Given the description of an element on the screen output the (x, y) to click on. 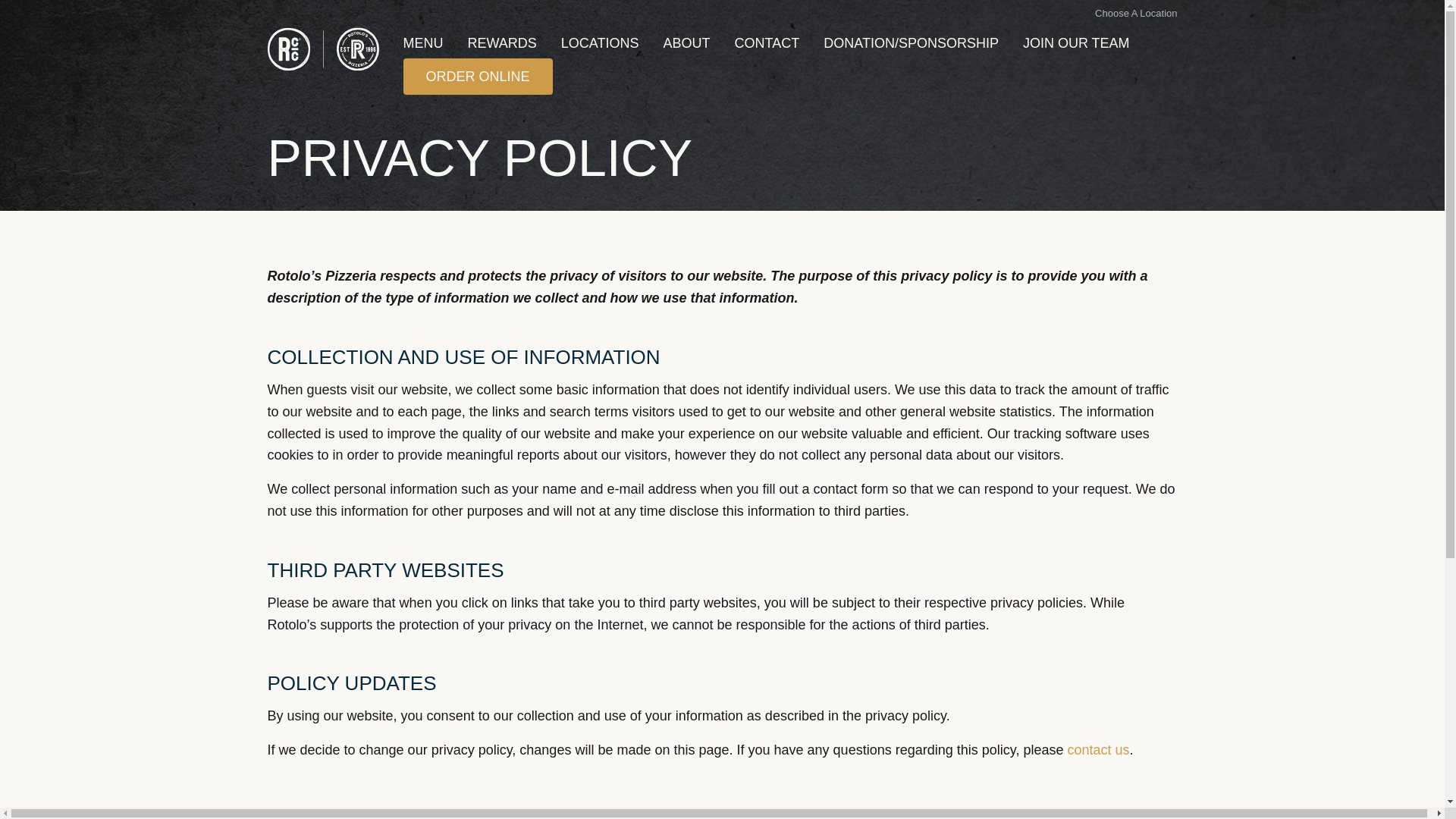
ORDER ONLINE (478, 76)
LOCATIONS (599, 42)
contact us (1098, 749)
CONTACT (767, 42)
ABOUT (686, 42)
REWARDS (501, 42)
JOIN OUR TEAM (1075, 42)
MENU (423, 42)
